Given the description of an element on the screen output the (x, y) to click on. 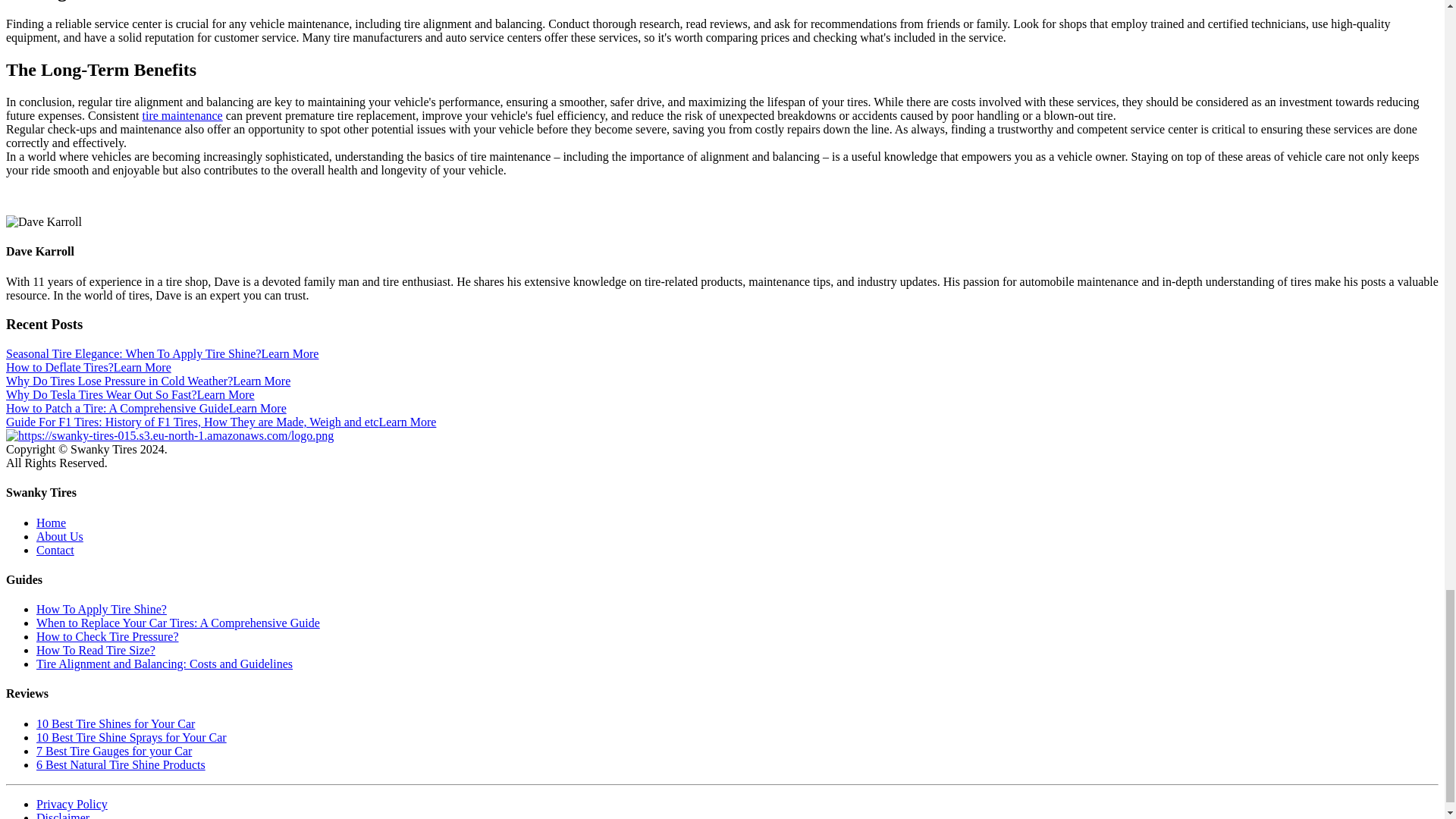
Seasonal Tire Elegance: When To Apply Tire Shine? (132, 353)
How to Deflate Tires? (142, 367)
Why Do Tires Lose Pressure in Cold Weather? (118, 380)
Seasonal Tire Elegance: When To Apply Tire Shine? (289, 353)
tire maintenance (182, 115)
Why Do Tires Lose Pressure in Cold Weather? (260, 380)
How to Deflate Tires? (59, 367)
